Given the description of an element on the screen output the (x, y) to click on. 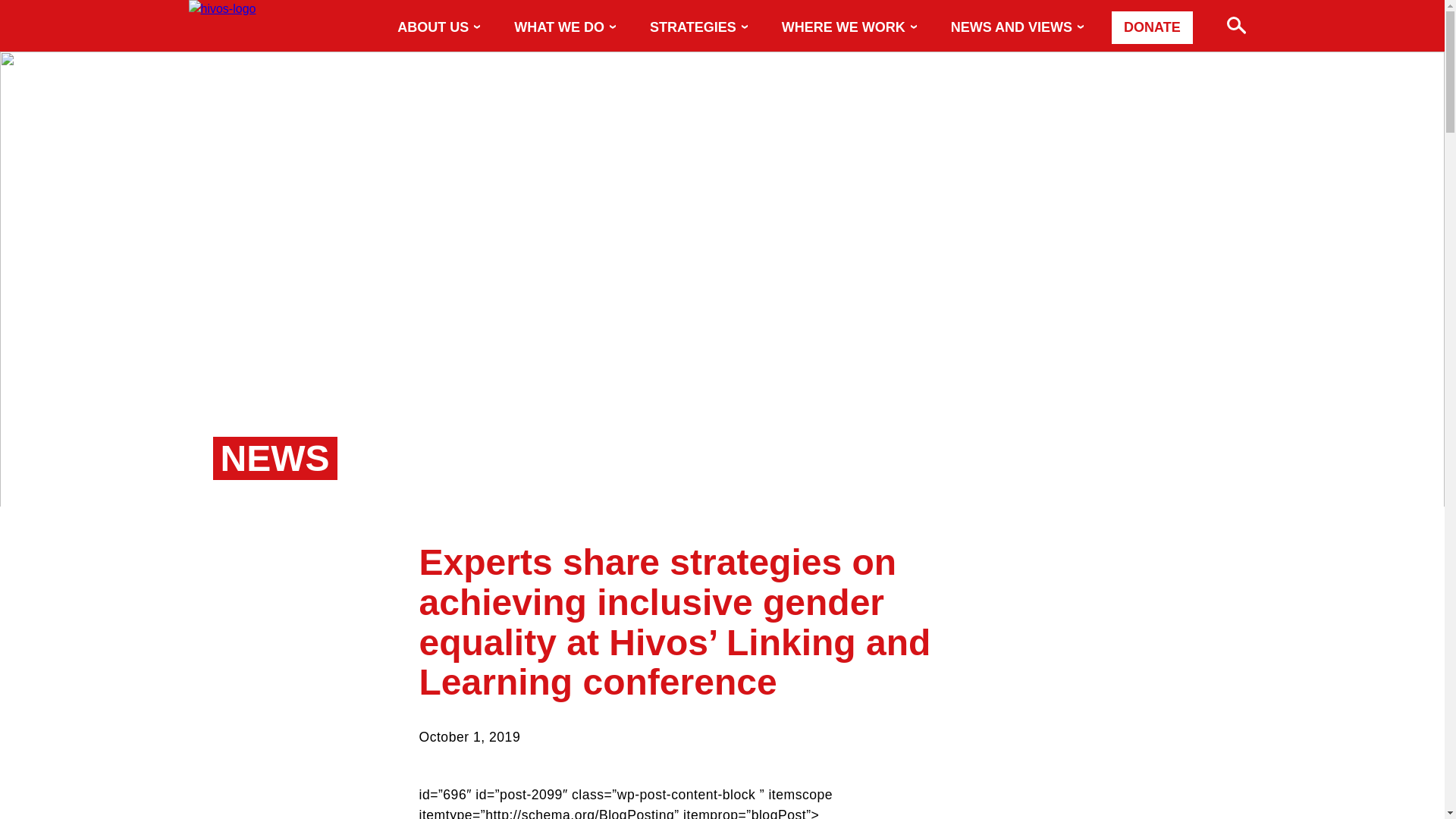
WHAT WE DO (569, 27)
ABOUT US (443, 27)
Open Search (1226, 21)
